Given the description of an element on the screen output the (x, y) to click on. 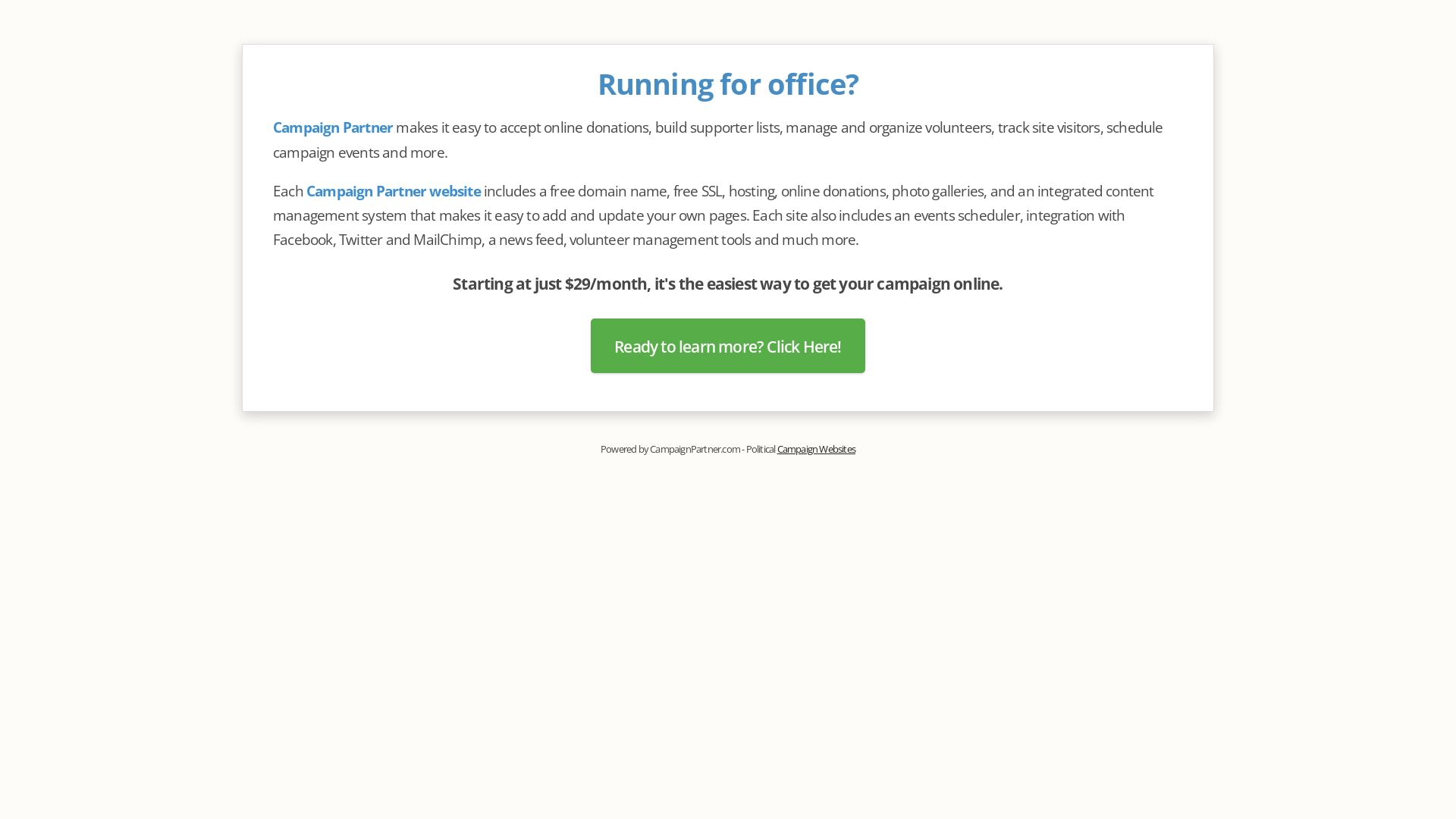
Campaign Websites Element type: text (816, 448)
Ready to learn more? Click Here! Element type: text (727, 345)
Campaign Partner Element type: text (332, 127)
Campaign Partner website Element type: text (393, 190)
